Given the description of an element on the screen output the (x, y) to click on. 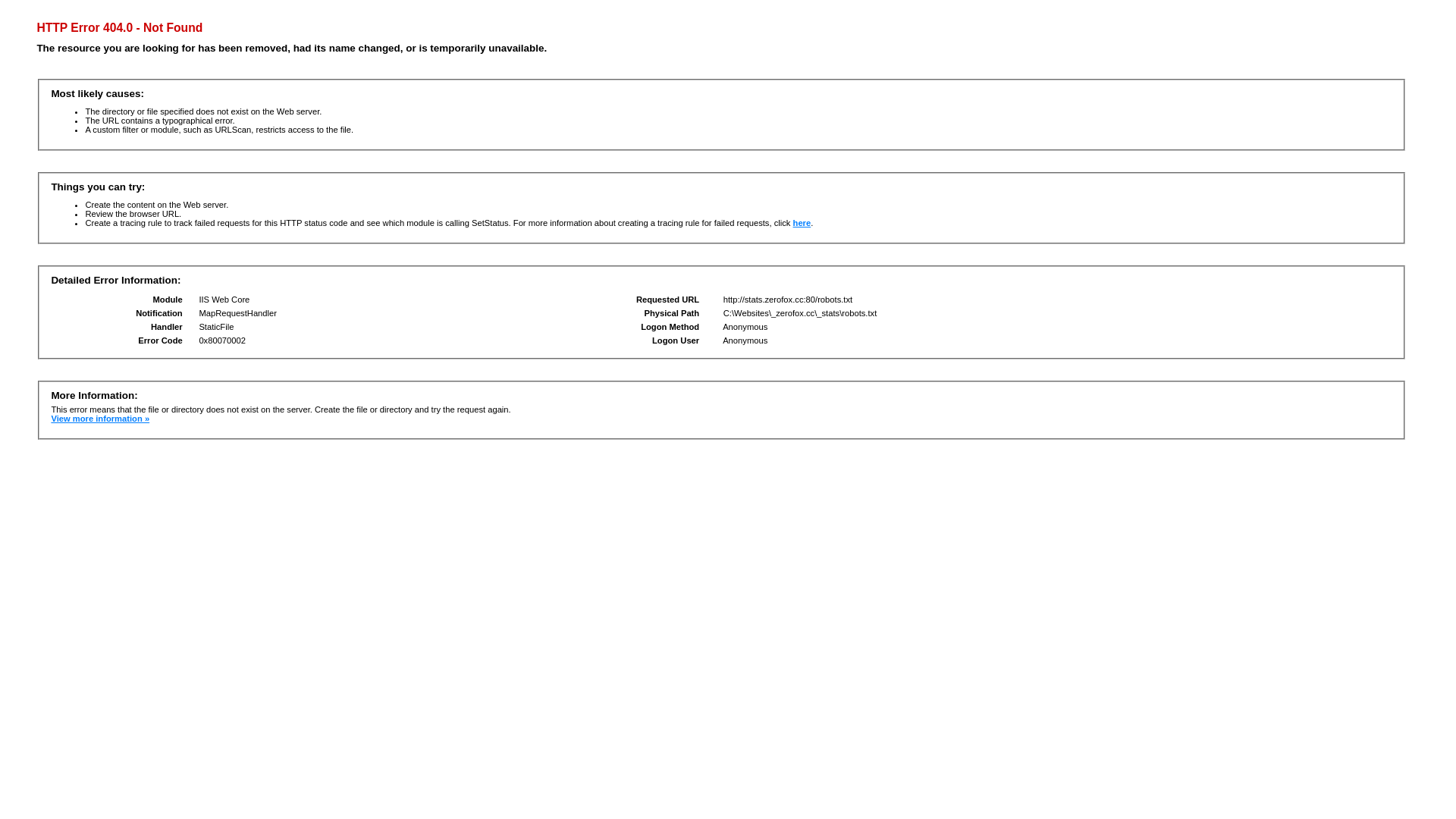
here Element type: text (802, 222)
